Given the description of an element on the screen output the (x, y) to click on. 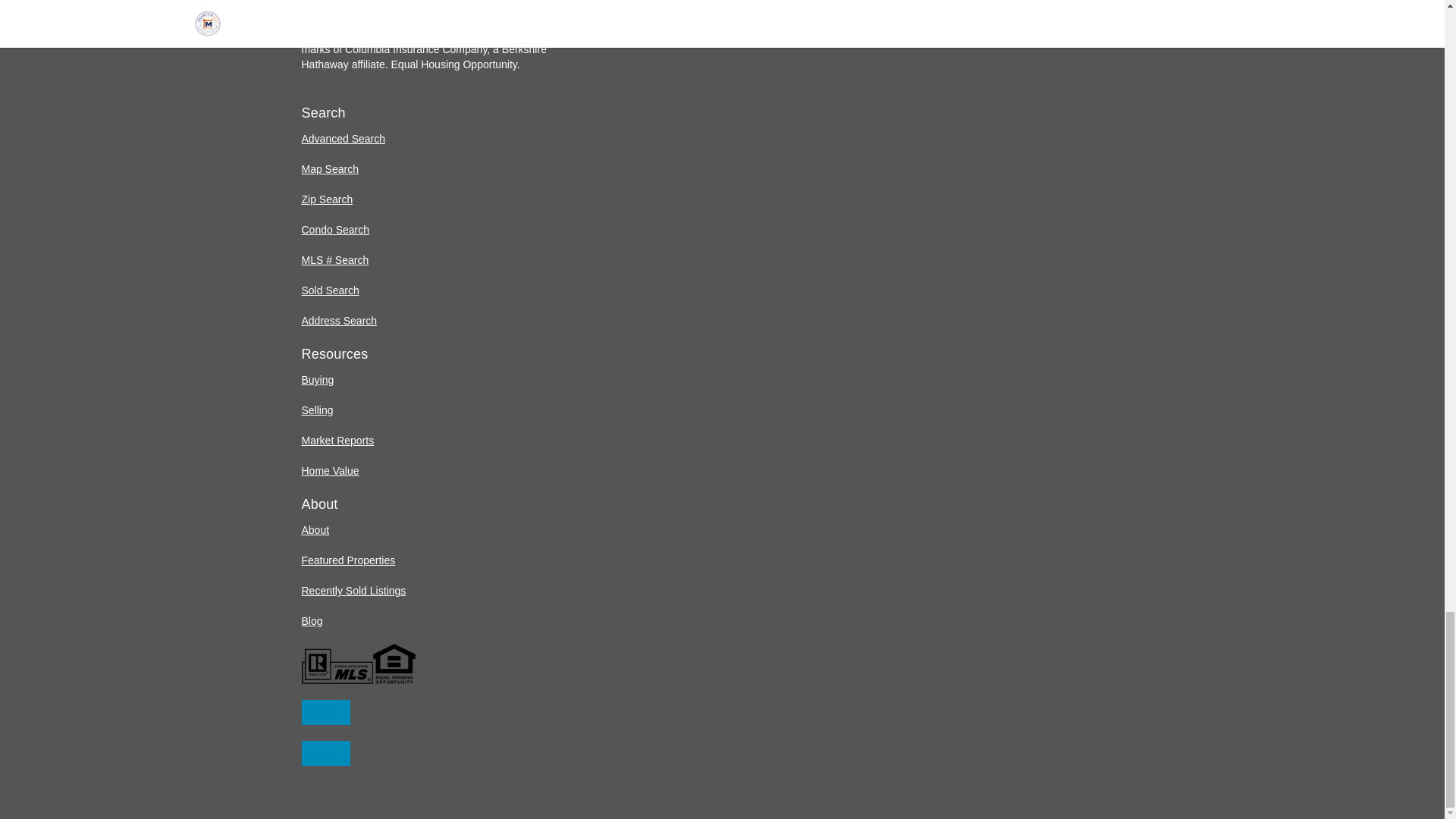
Go to top (325, 753)
Contact (325, 712)
